Given the description of an element on the screen output the (x, y) to click on. 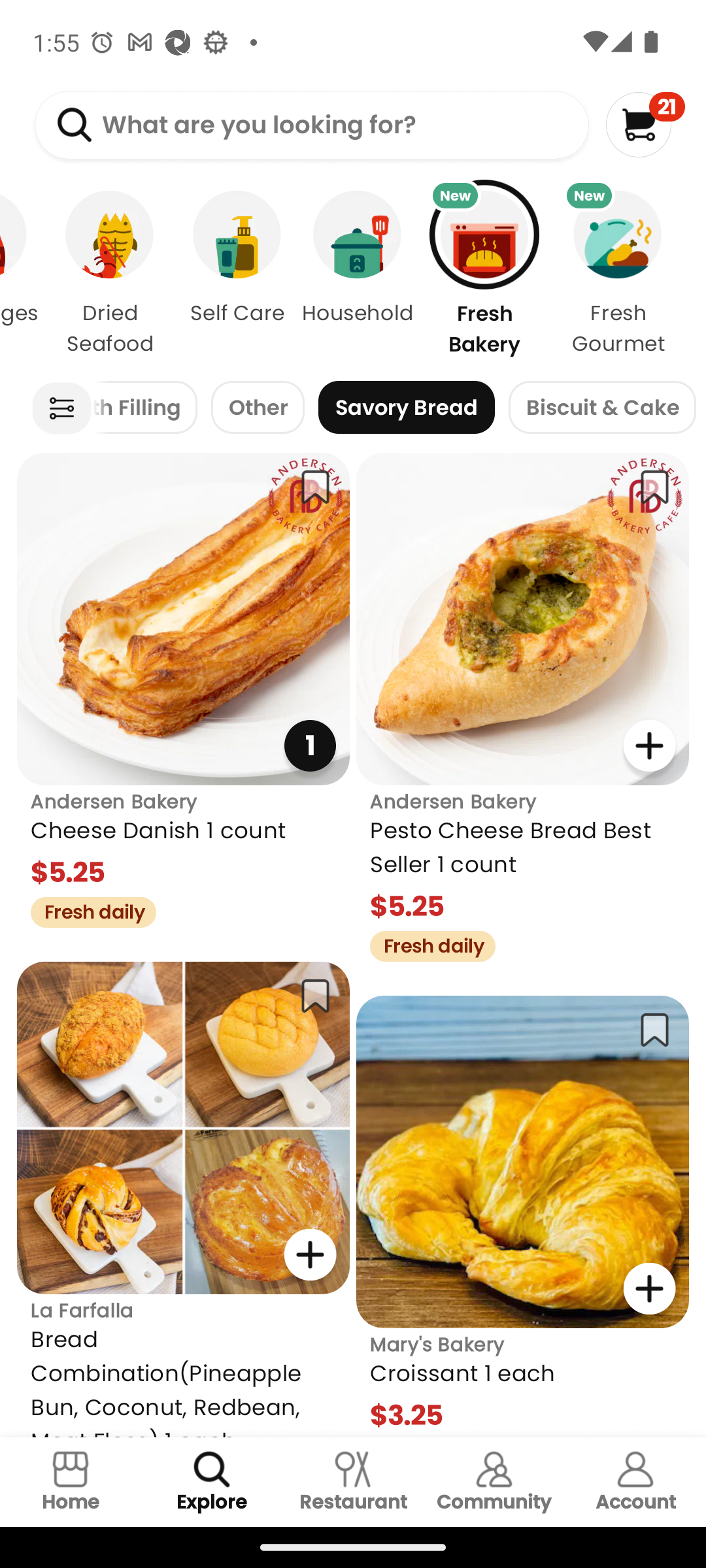
What are you looking for? (311, 124)
21 (644, 124)
Dried Seafood (110, 273)
Self Care (237, 273)
Household (357, 273)
New Fresh Bakery (484, 273)
New Fresh Gourmet (628, 273)
With Filling (144, 407)
Other (257, 407)
Savory Bread (406, 407)
Biscuit & Cake (602, 407)
1 (310, 745)
Fresh daily (86, 910)
Fresh daily (425, 943)
Mary's Bakery Croissant 1 each $3.25 (522, 1216)
Home (70, 1482)
Explore (211, 1482)
Restaurant (352, 1482)
Community (493, 1482)
Account (635, 1482)
